Given the description of an element on the screen output the (x, y) to click on. 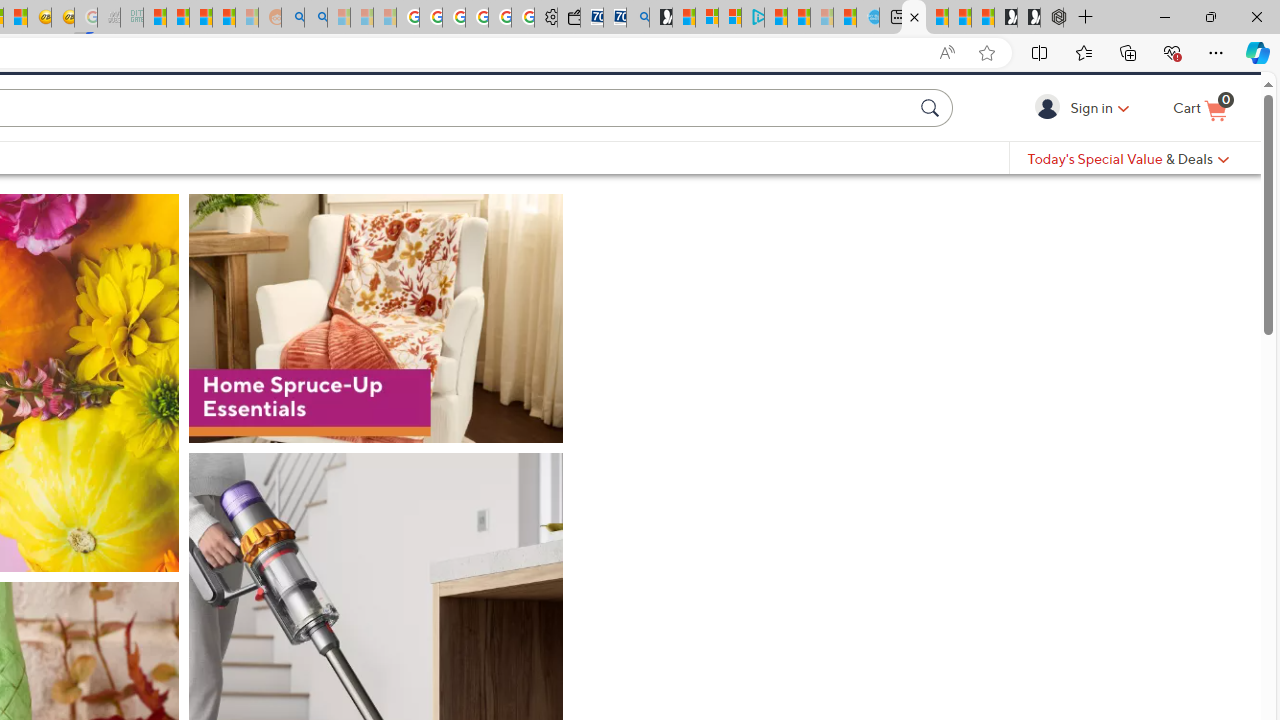
Bing Real Estate - Home sales and rental listings (637, 17)
Sign in (1049, 141)
Search Submit (932, 141)
